Given the description of an element on the screen output the (x, y) to click on. 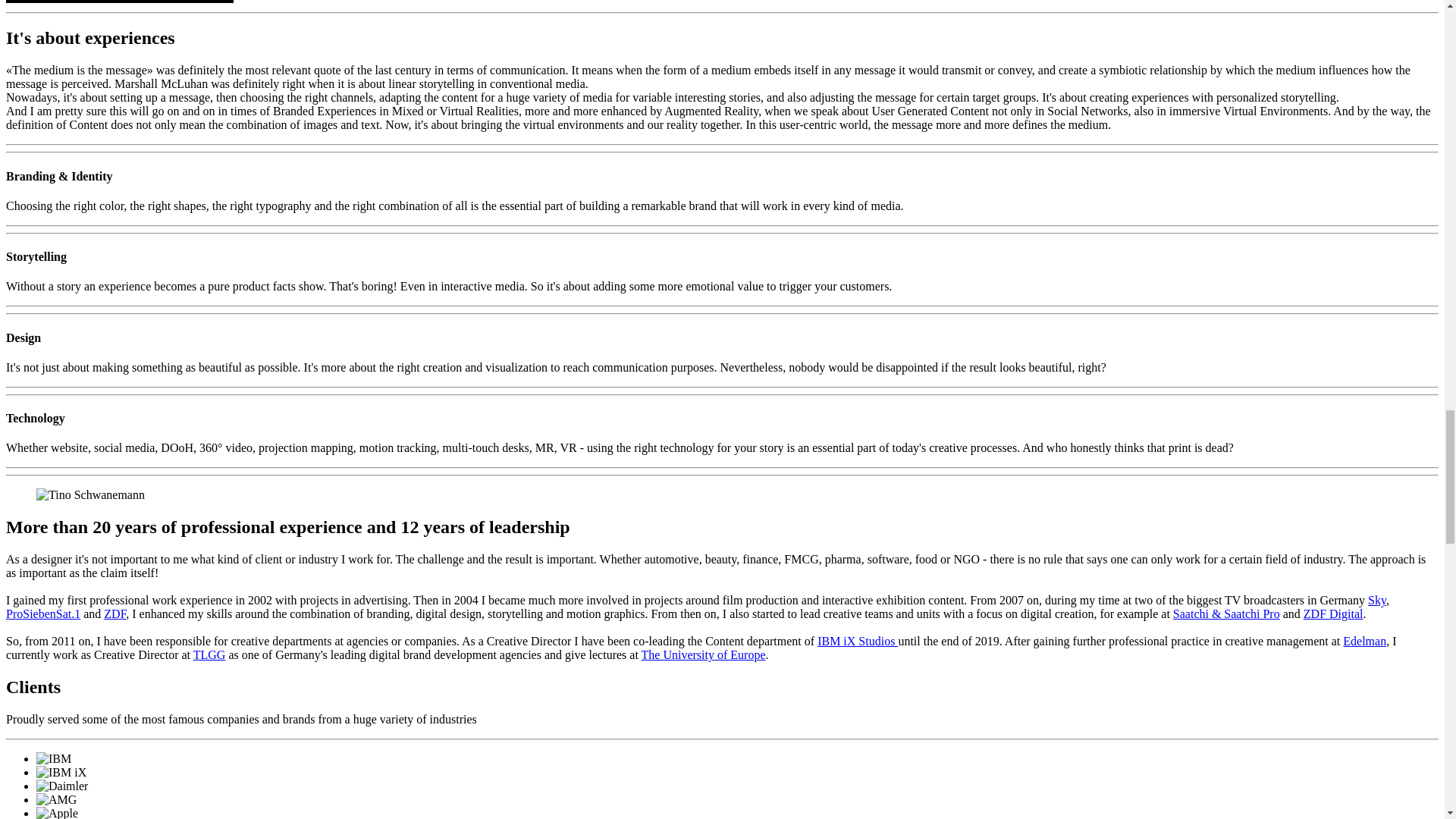
Edelman (1364, 640)
ZDF (114, 613)
Sky (1377, 599)
ProSiebenSat.1 (42, 613)
ZDF Digital (1332, 613)
TLGG (209, 654)
The University of Europe (703, 654)
IBM iX Studios (857, 640)
